Given the description of an element on the screen output the (x, y) to click on. 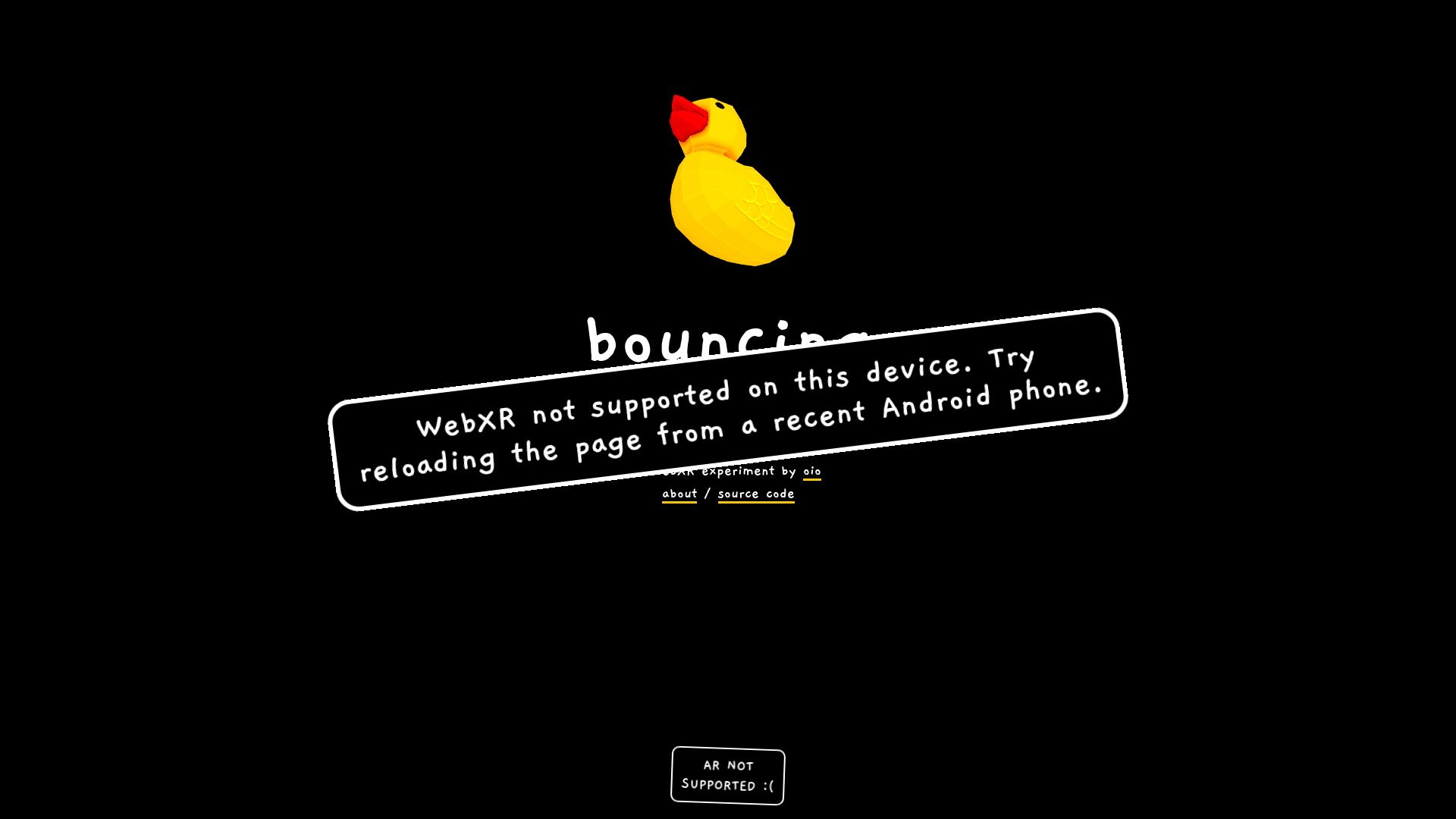
source code Element type: text (755, 494)
AR NOT SUPPORTED :( Element type: text (727, 773)
about Element type: text (678, 494)
oio Element type: text (811, 471)
